Given the description of an element on the screen output the (x, y) to click on. 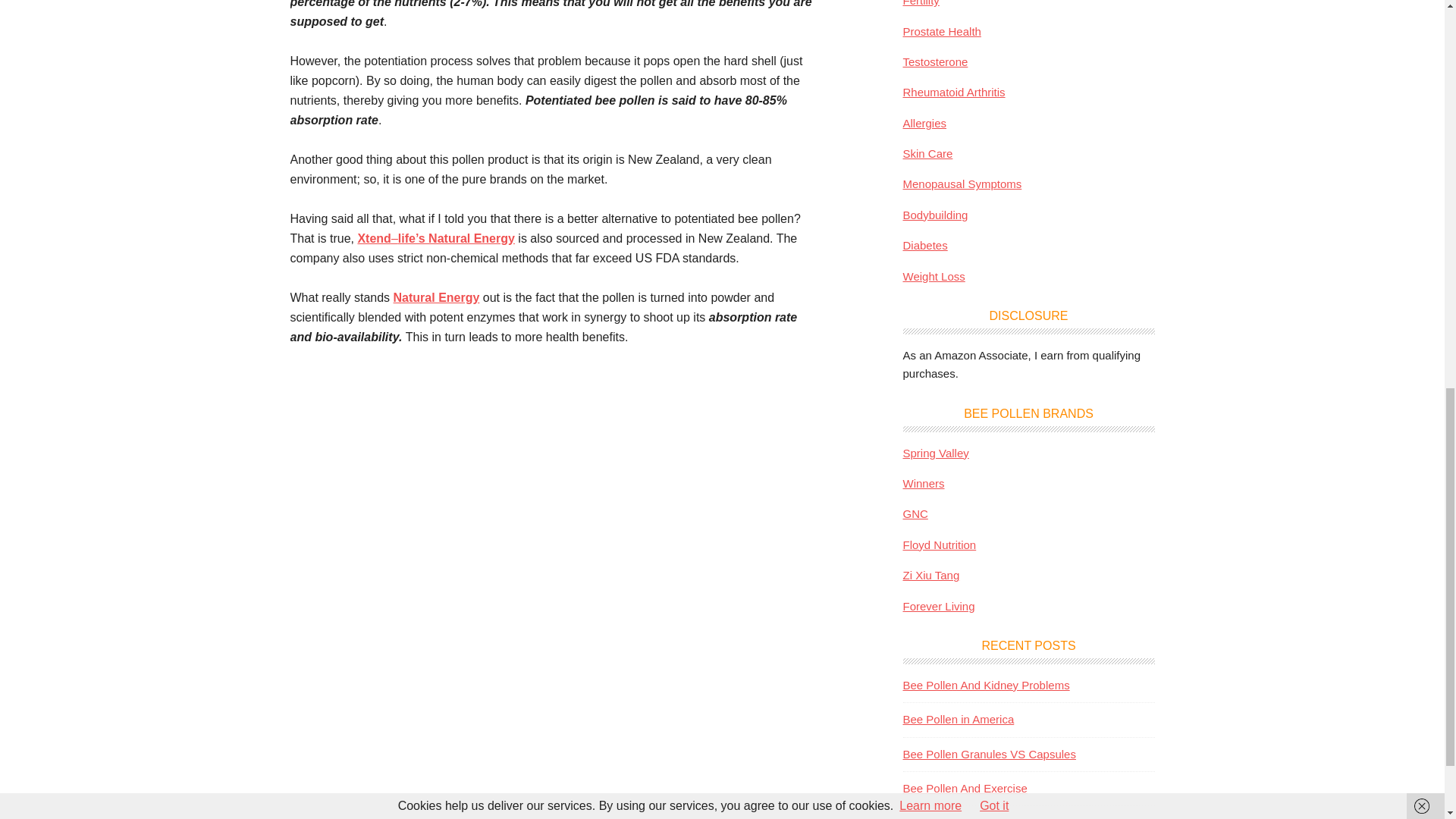
Rheumatoid Arthritis (953, 91)
Bodybuilding (935, 214)
Diabetes (924, 245)
Weight Loss (932, 276)
Bee Pollen And Exercise (964, 788)
Forever Living (938, 604)
Floyd Nutrition (938, 544)
Bee Pollen in America (957, 718)
Spring Valley (935, 452)
GNC (914, 513)
Prostate Health (940, 30)
Skin Care (927, 153)
Winners (922, 482)
Natural Energy (436, 297)
Zi Xiu Tang (930, 574)
